Given the description of an element on the screen output the (x, y) to click on. 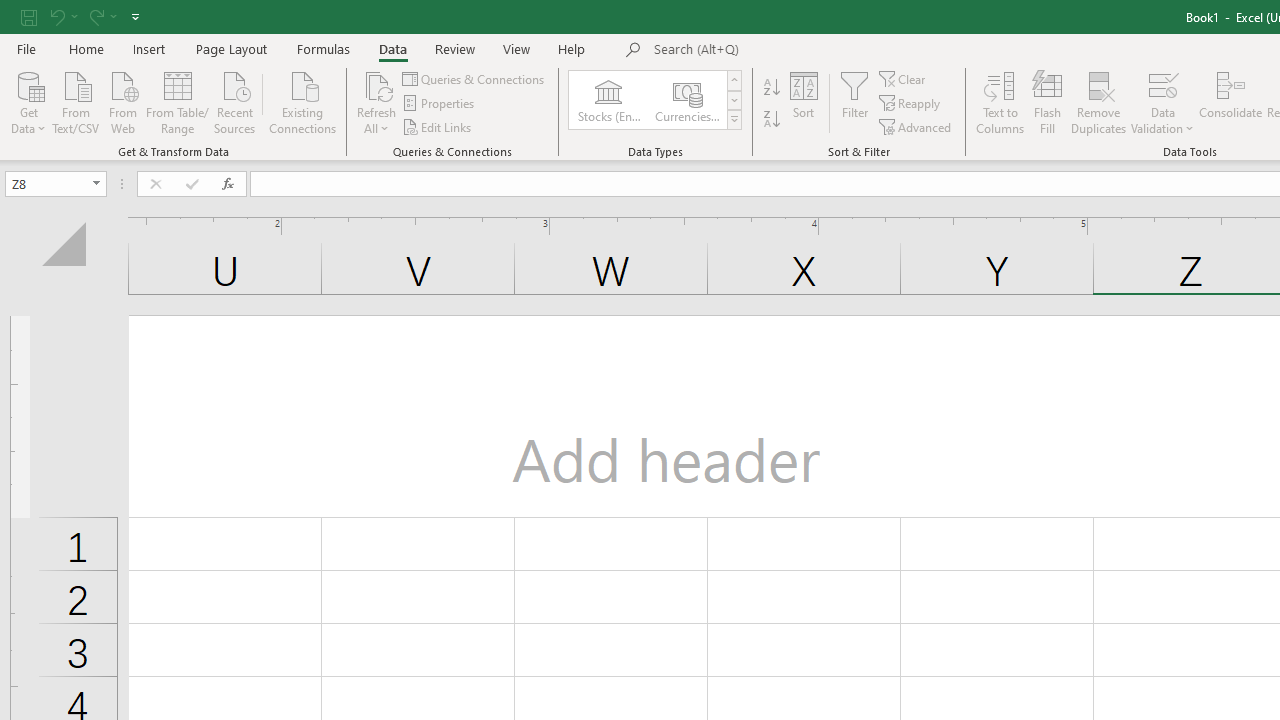
Refresh All (376, 102)
Existing Connections (303, 101)
Review (454, 48)
From Text/CSV (75, 101)
System (10, 11)
Advanced... (916, 126)
Save (29, 15)
File Tab (26, 48)
System (10, 11)
Microsoft search (792, 49)
